Given the description of an element on the screen output the (x, y) to click on. 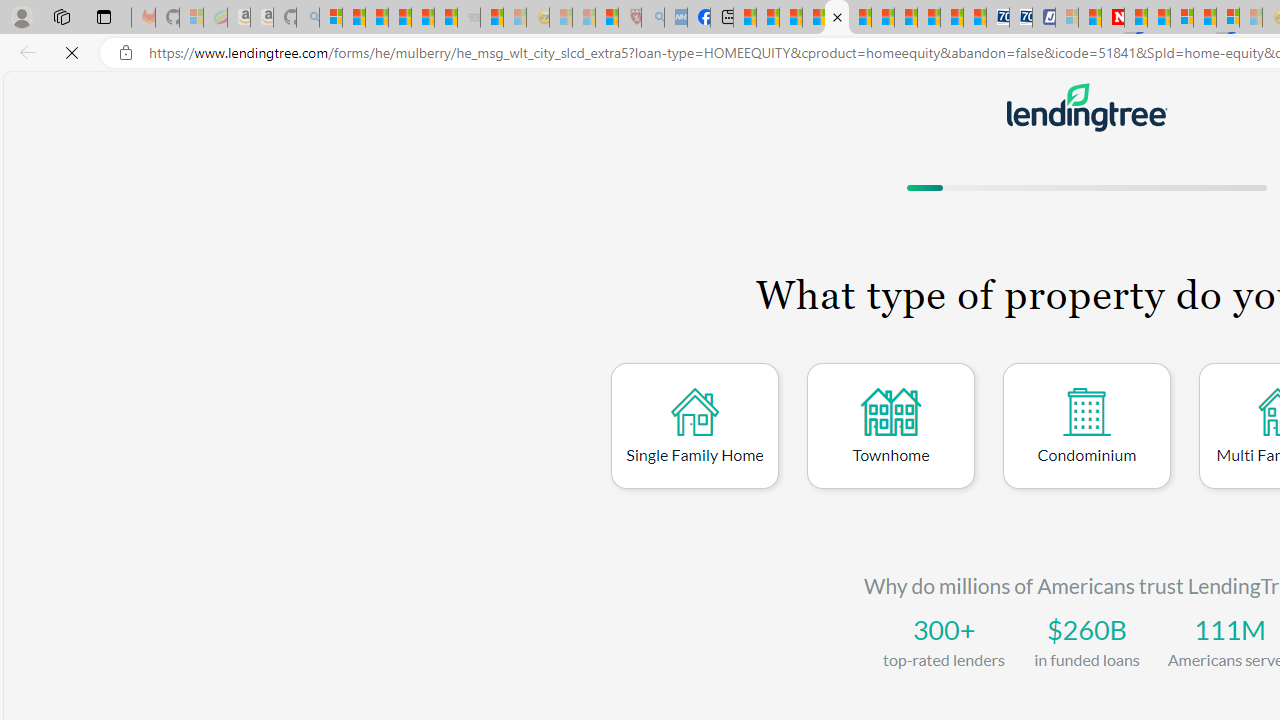
Combat Siege - Sleeping (468, 17)
LendingTree - Compare Lenders (836, 17)
MSNBC - MSN (744, 17)
Microsoft-Report a Concern to Bing - Sleeping (191, 17)
Local - MSN (607, 17)
Microsoft account | Privacy - Sleeping (1066, 17)
NCL Adult Asthma Inhaler Choice Guideline - Sleeping (675, 17)
Microsoft account | Privacy (330, 17)
